Given the description of an element on the screen output the (x, y) to click on. 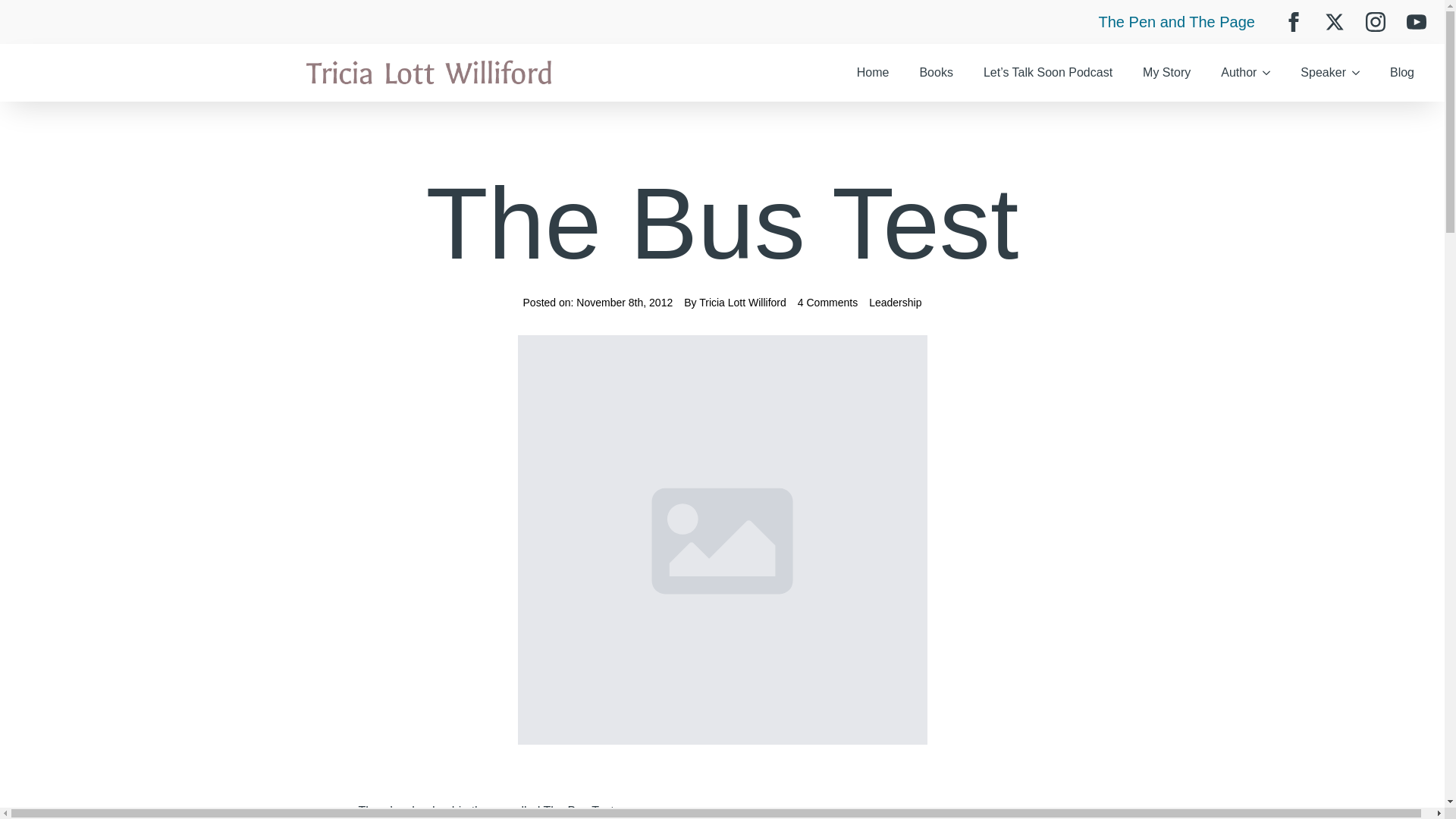
Home (872, 72)
Books (936, 72)
My Story (1165, 72)
The Pen and The Page (1177, 21)
Author (1230, 72)
Speaker (1315, 72)
Blog (1401, 72)
